Given the description of an element on the screen output the (x, y) to click on. 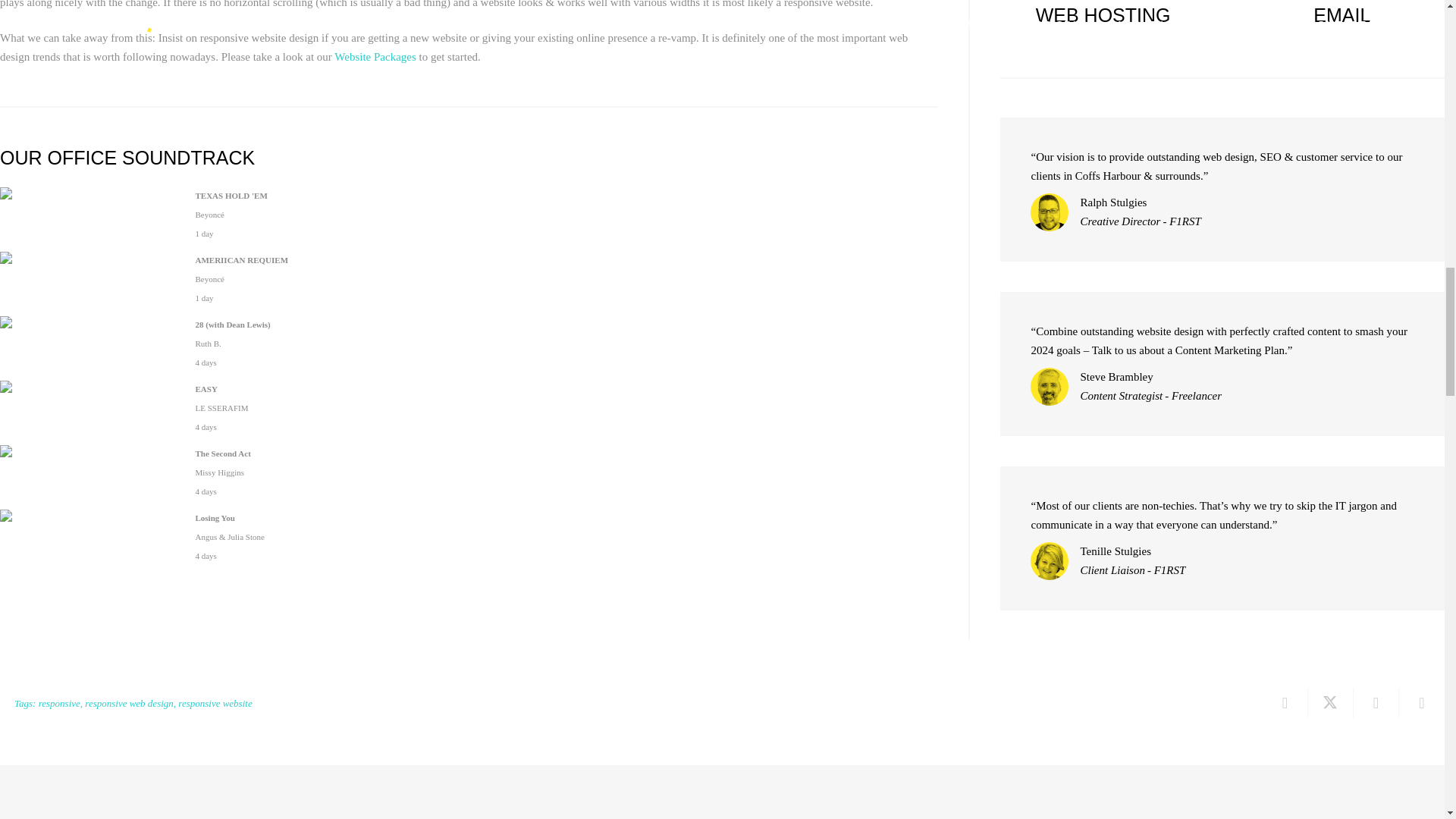
Share this (1376, 702)
Tweet this (1330, 702)
Share this (1284, 702)
Pin this (1421, 702)
